Given the description of an element on the screen output the (x, y) to click on. 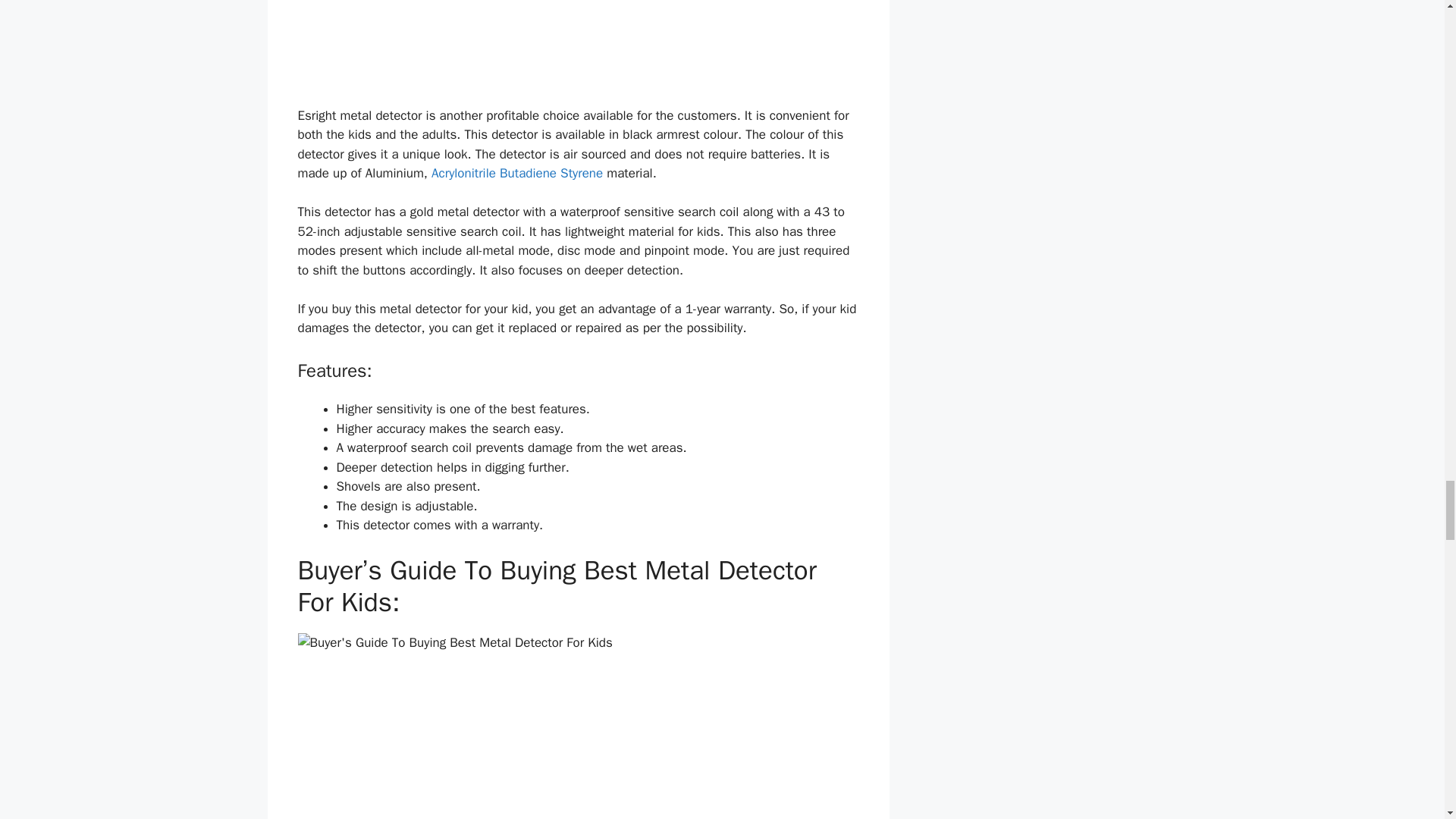
Acrylonitrile Butadiene Styrene (516, 172)
